Given the description of an element on the screen output the (x, y) to click on. 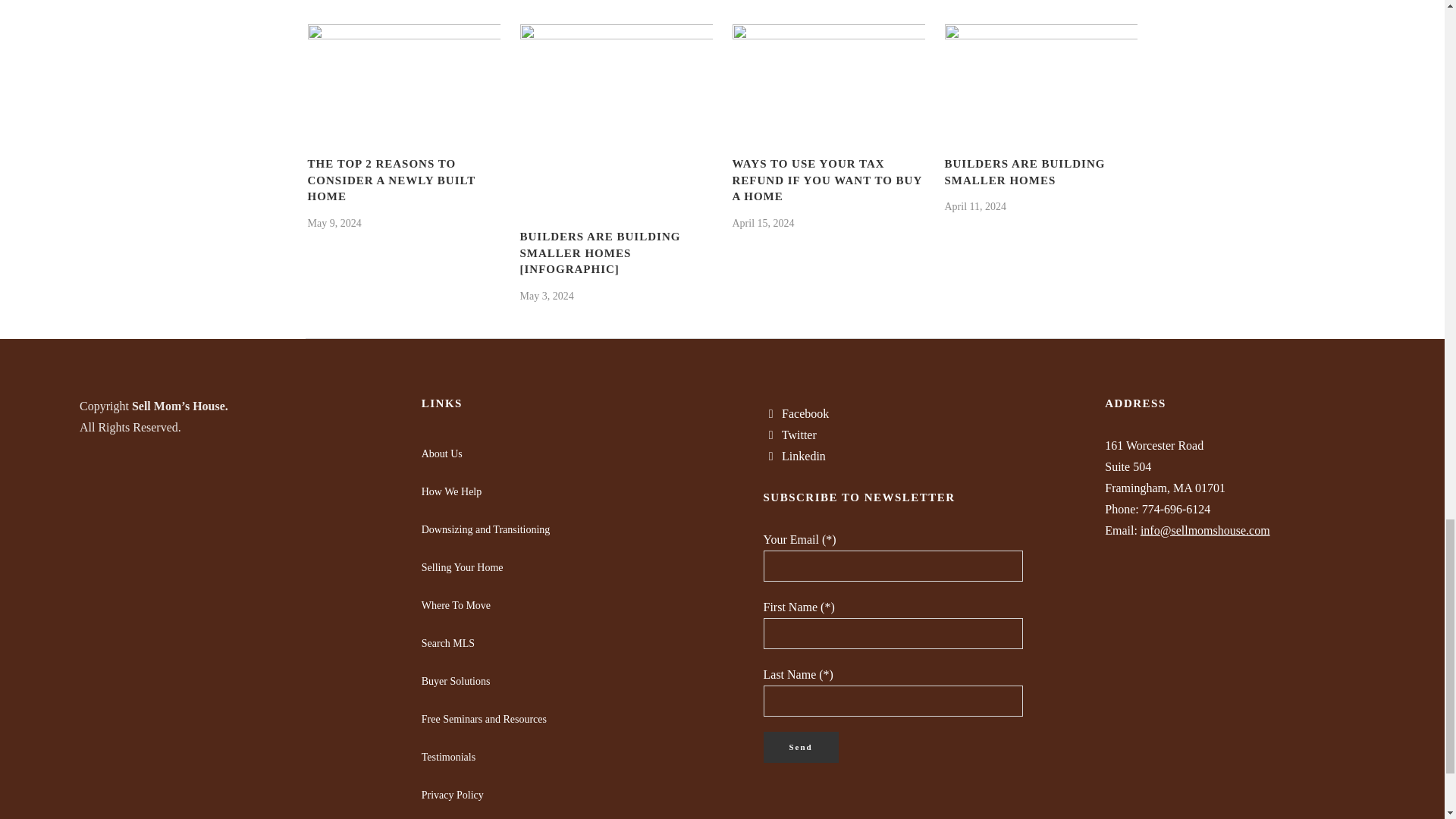
The Top 2 Reasons To Consider a Newly Built Home (403, 76)
May 9, 2024 (334, 223)
Ways To Use Your Tax Refund If You Want To Buy a Home (828, 76)
Builders Are Building Smaller Homes (1040, 76)
Ways To Use Your Tax Refund If You Want To Buy a Home (826, 180)
The Top 2 Reasons To Consider a Newly Built Home (391, 180)
Send (800, 747)
THE TOP 2 REASONS TO CONSIDER A NEWLY BUILT HOME (391, 180)
Builders Are Building Smaller Homes (1024, 172)
